Given the description of an element on the screen output the (x, y) to click on. 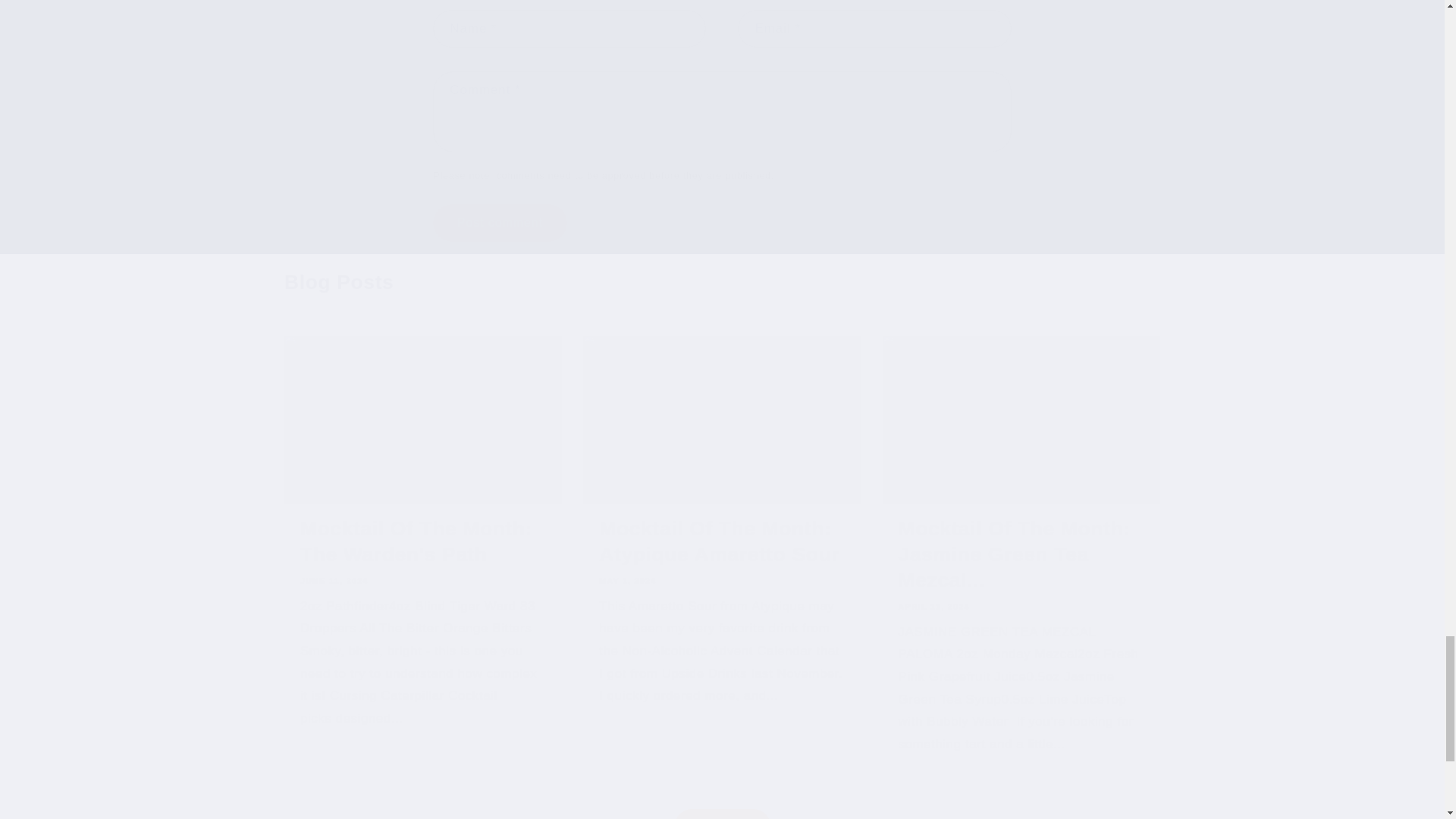
View all (721, 794)
Blog Posts (338, 282)
Post comment (499, 221)
